Given the description of an element on the screen output the (x, y) to click on. 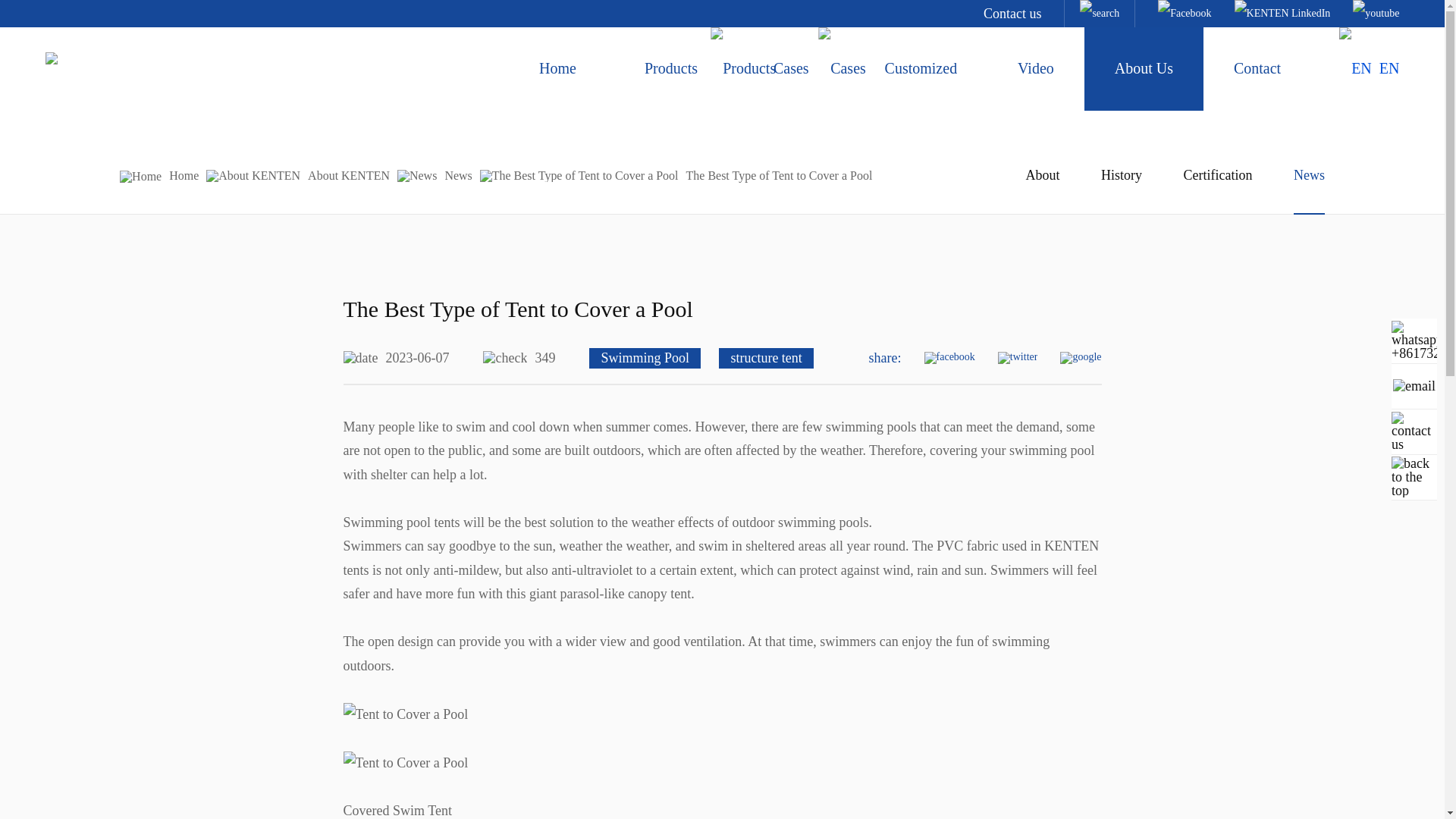
Home (557, 68)
Products (671, 68)
Cases (791, 68)
search (1099, 13)
youtube (1375, 13)
Products (671, 68)
Home (557, 68)
Contact us (1013, 13)
Facebook (1184, 13)
Structure Tent (81, 69)
